Given the description of an element on the screen output the (x, y) to click on. 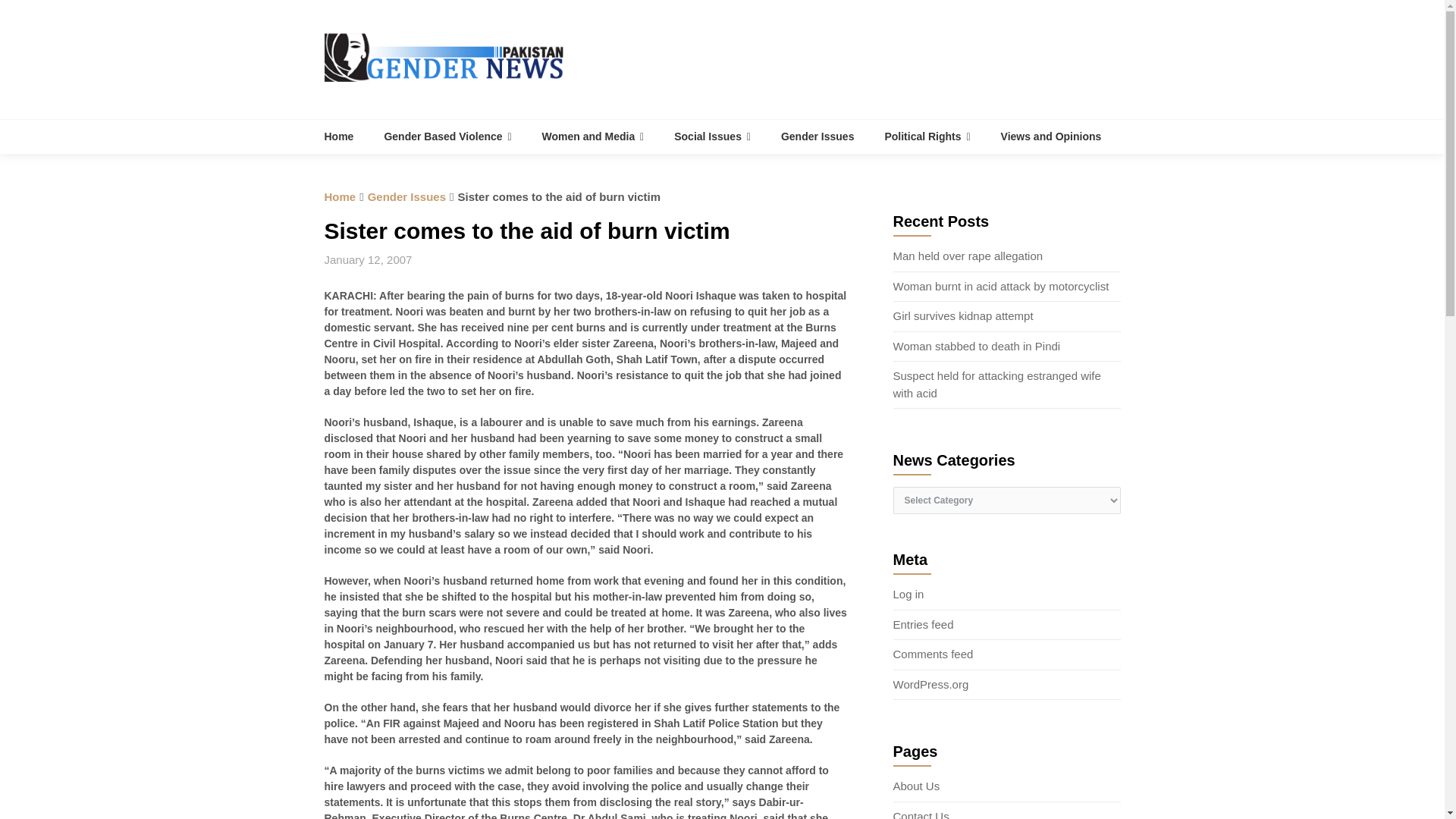
Political Rights (927, 136)
Contact Us (921, 814)
Gender Based Violence (446, 136)
WordPress.org (931, 684)
Women and Media (593, 136)
Views and Opinions (1050, 136)
Women and Media (593, 136)
Social Issues (712, 136)
Woman burnt in acid attack by motorcyclist (1001, 286)
Pakistan Gender News (346, 136)
